Given the description of an element on the screen output the (x, y) to click on. 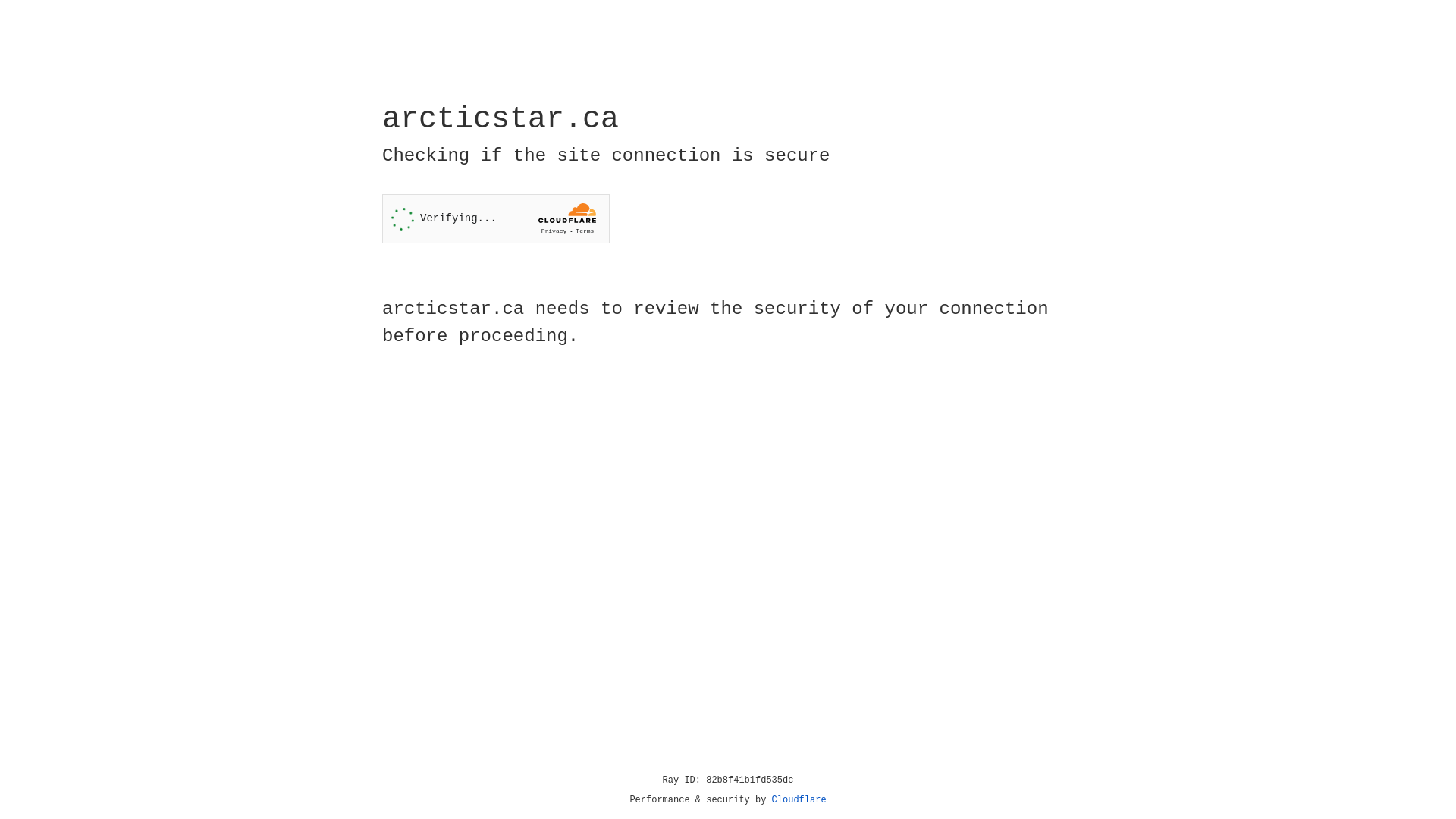
Cloudflare Element type: text (798, 799)
Widget containing a Cloudflare security challenge Element type: hover (495, 218)
